Given the description of an element on the screen output the (x, y) to click on. 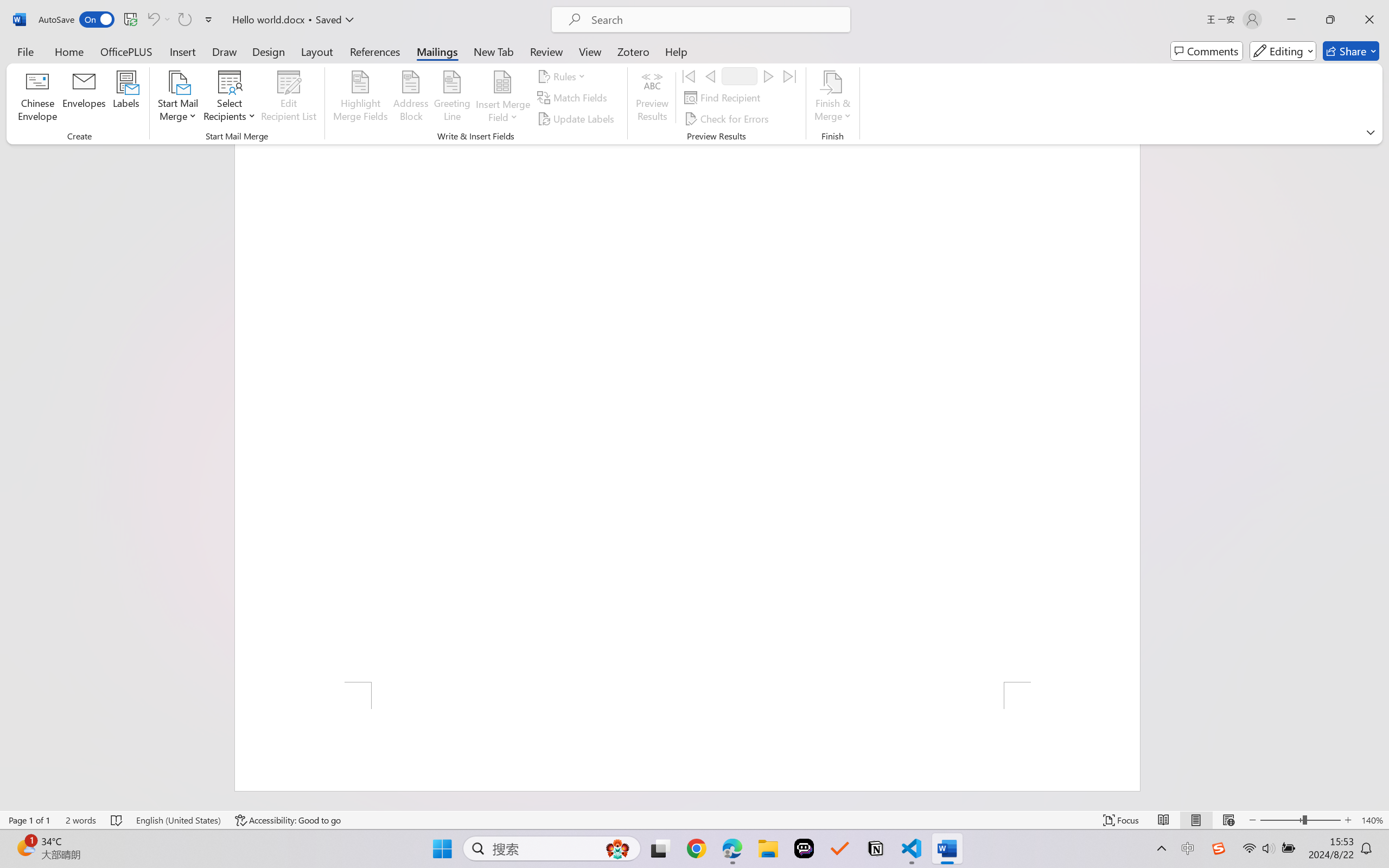
File Tab (24, 51)
AutomationID: DynamicSearchBoxGleamImage (617, 848)
Mode (1283, 50)
Notion (875, 848)
Zoom In (1348, 819)
Quick Access Toolbar (127, 19)
Design (268, 51)
Mailings (437, 51)
Can't Undo (158, 19)
Zoom (1300, 819)
Microsoft search (715, 19)
Comments (1206, 50)
Layout (316, 51)
